Given the description of an element on the screen output the (x, y) to click on. 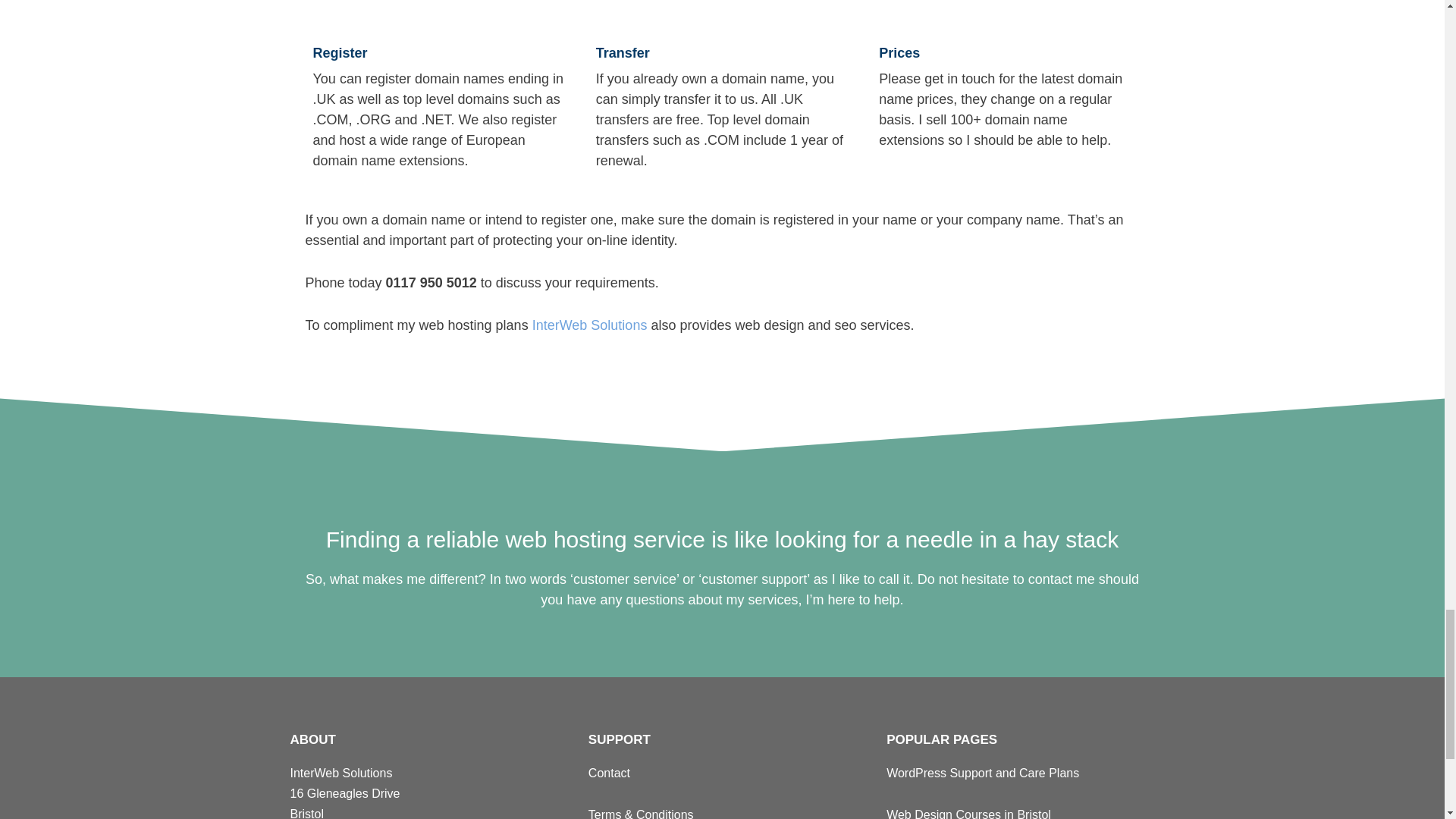
Web Design Courses in Bristol (968, 813)
InterWeb Solutions (589, 324)
Contact (609, 772)
WordPress Support and Care Plans (982, 772)
